Given the description of an element on the screen output the (x, y) to click on. 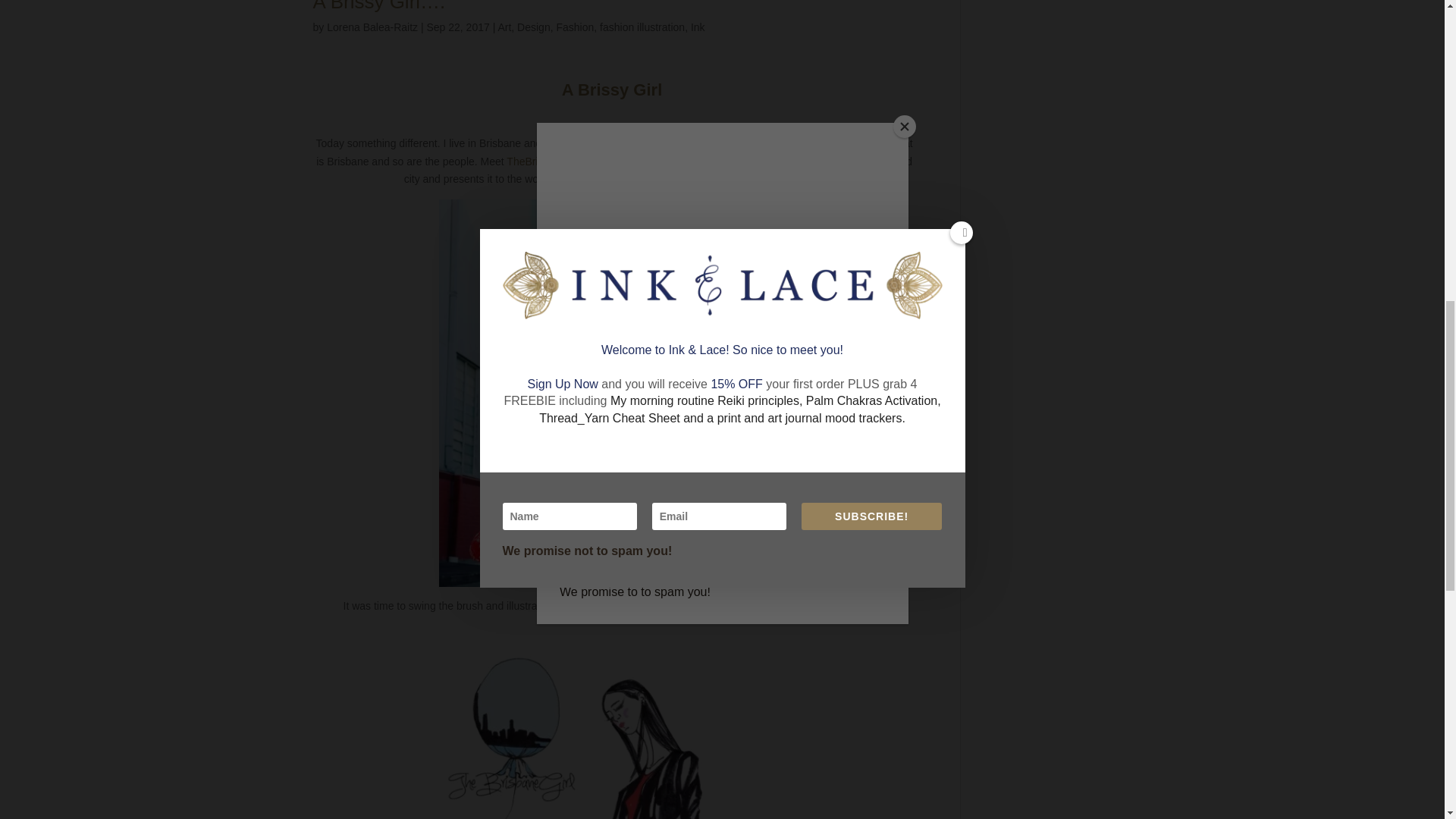
Lorena Balea-Raitz (371, 27)
Ink (697, 27)
fashion illustration (641, 27)
Posts by Lorena Balea-Raitz (371, 27)
TheBrisbaneGirl (544, 161)
Design (533, 27)
Instagram (719, 605)
Art (504, 27)
Fashion (575, 27)
